Given the description of an element on the screen output the (x, y) to click on. 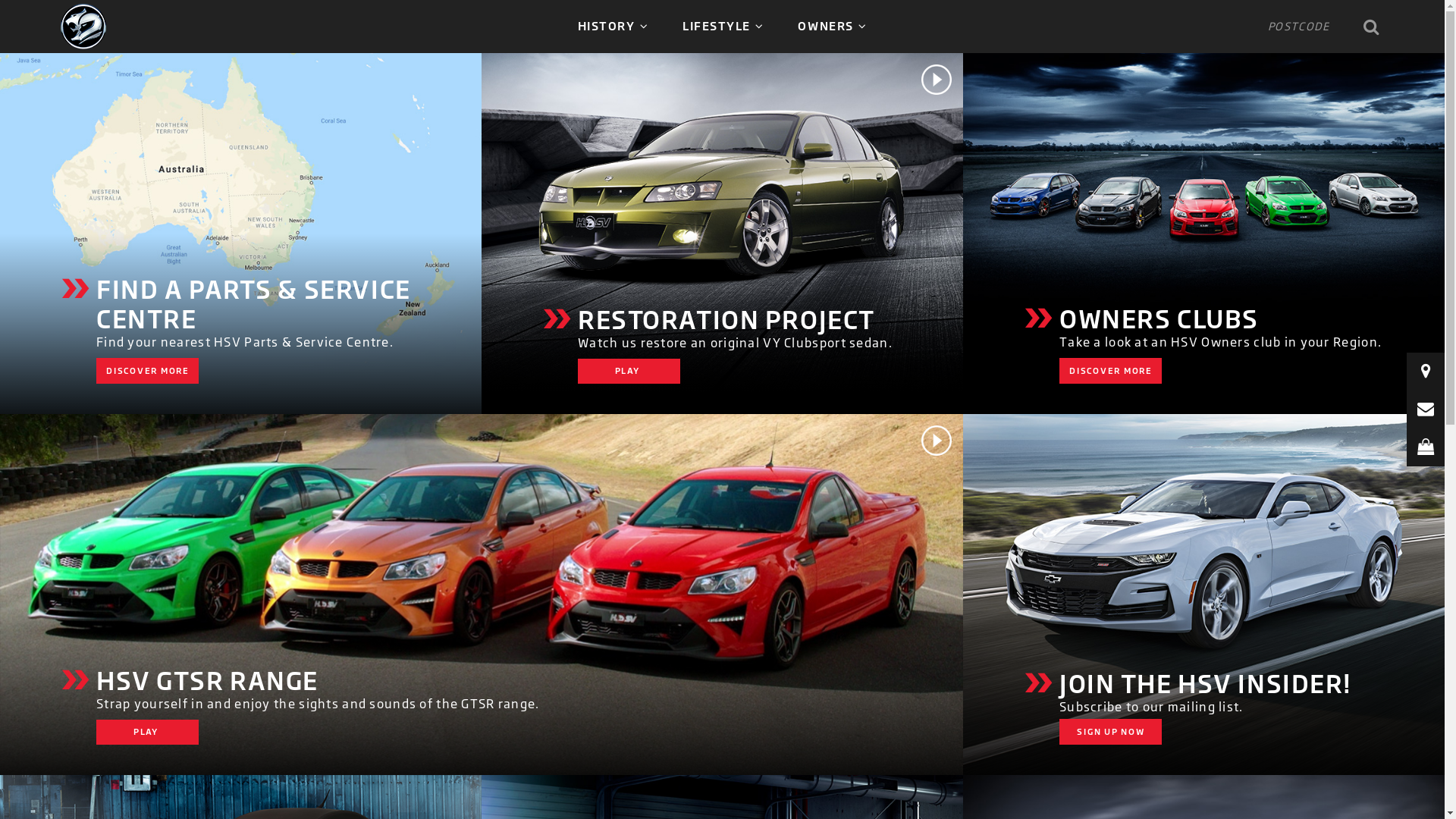
HSV Element type: hover (83, 24)
HSV Owners Clubs Element type: hover (1203, 233)
HSV GTSR Range Element type: hover (481, 594)
HSV Restoration Project Element type: hover (722, 233)
HISTORY Element type: text (612, 25)
OWNERS Element type: text (832, 25)
LIFESTYLE Element type: text (722, 25)
Subscribe to HSV Element type: hover (1203, 594)
HSV Element type: hover (83, 26)
